Given the description of an element on the screen output the (x, y) to click on. 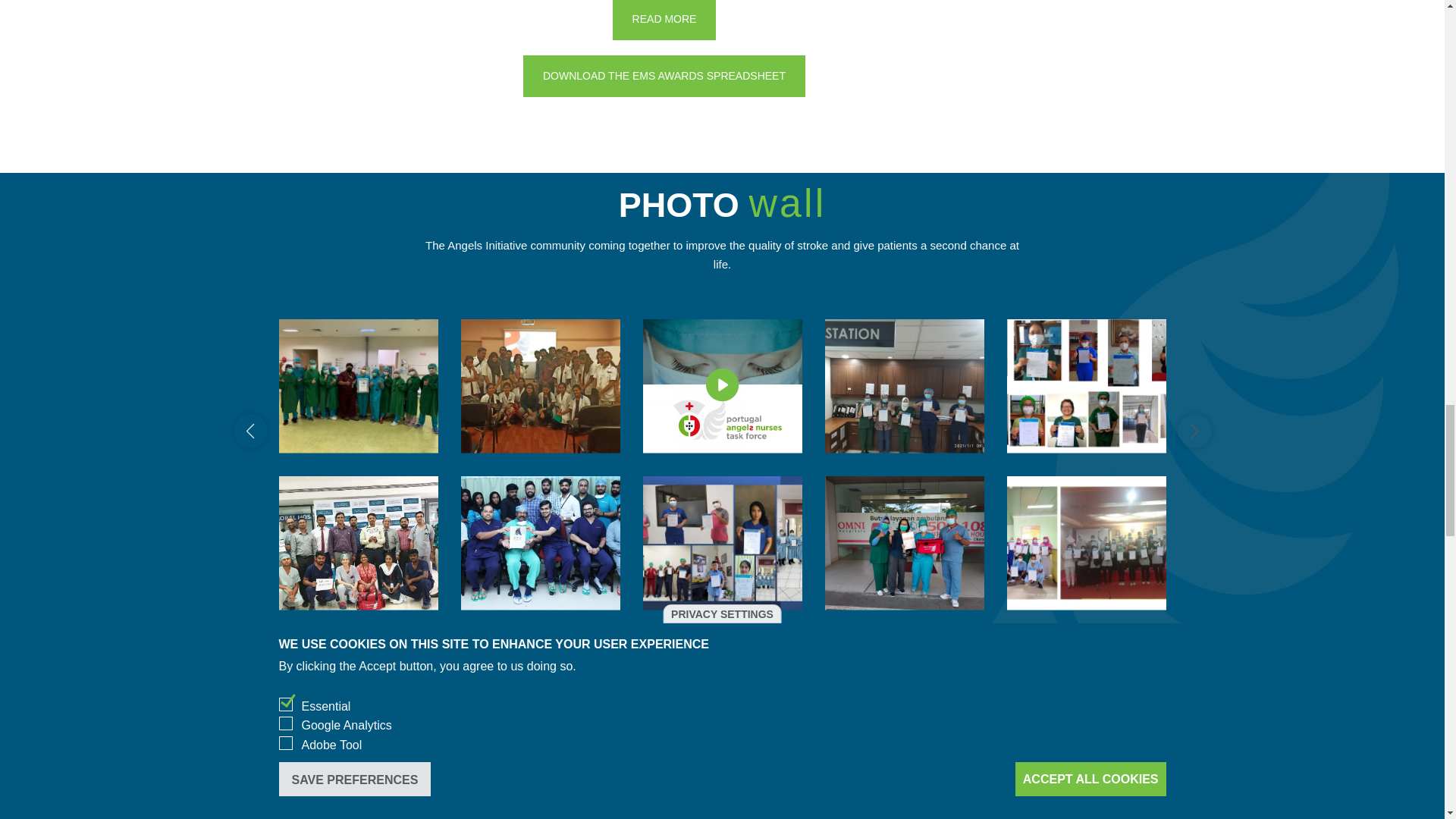
DOWNLOAD THE EMS AWARDS SPREADSHEET (663, 76)
READ MORE (664, 20)
